Given the description of an element on the screen output the (x, y) to click on. 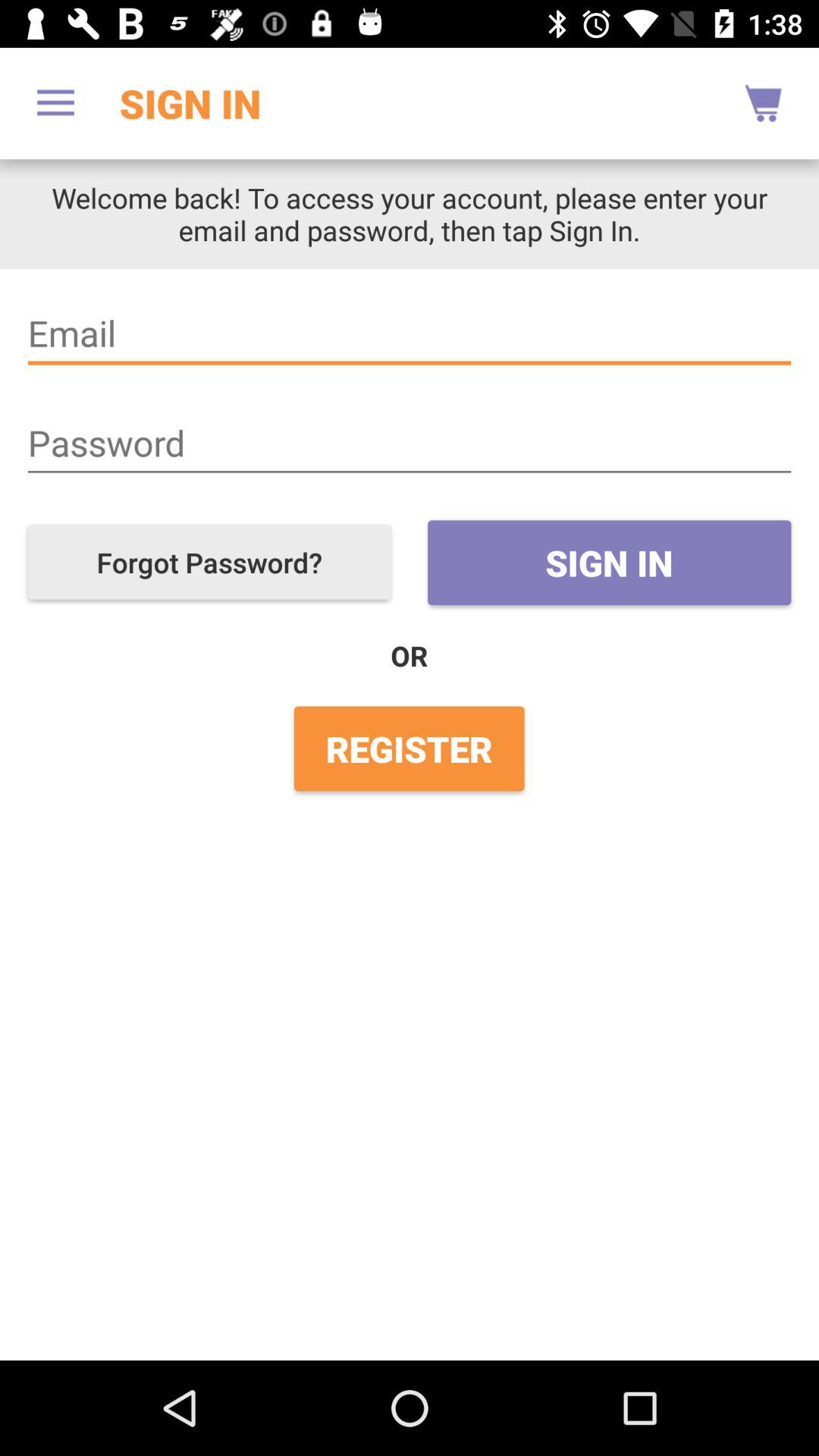
turn off item below welcome back to icon (409, 333)
